Given the description of an element on the screen output the (x, y) to click on. 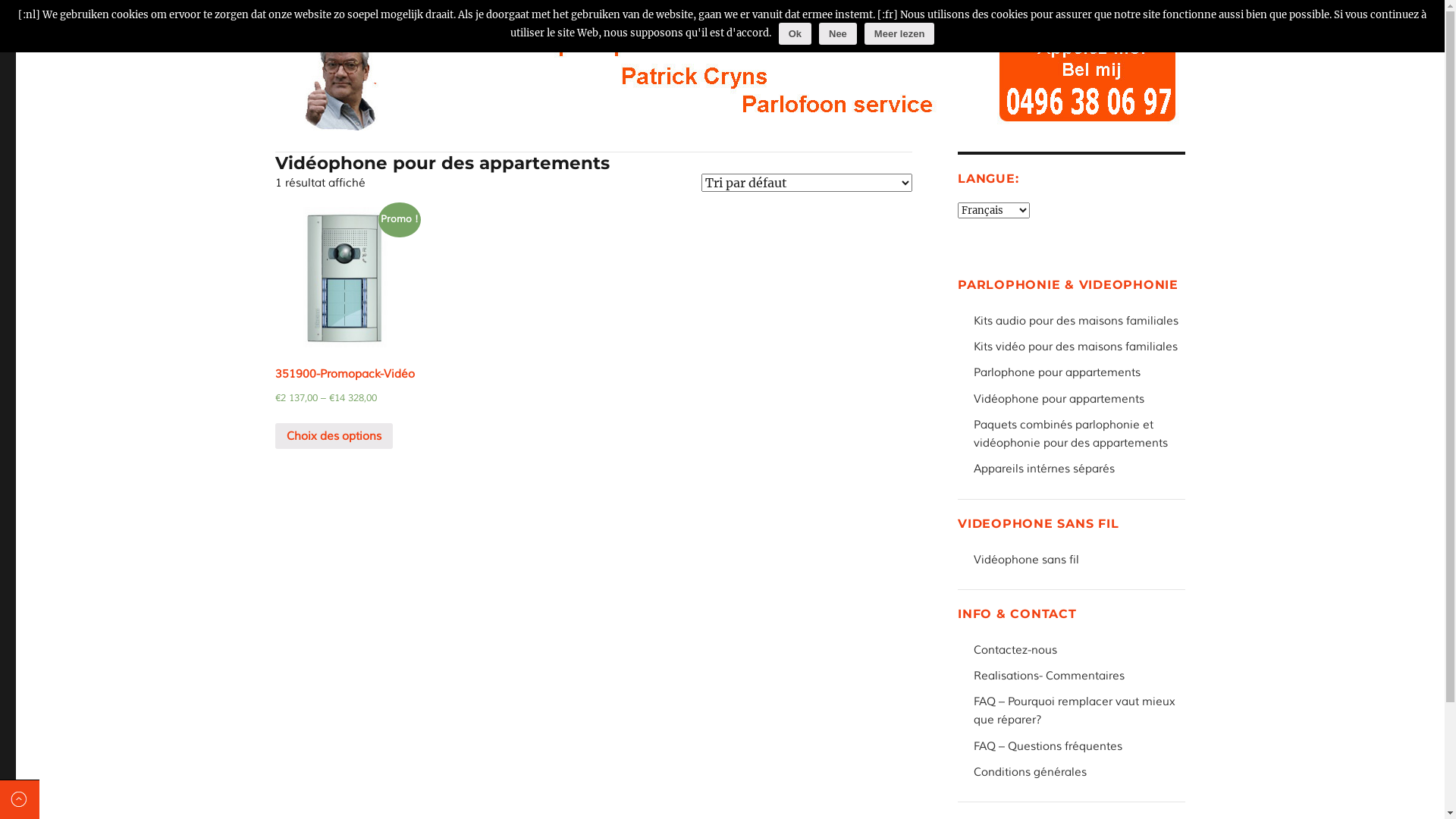
Realisations- Commentaires Element type: text (1077, 676)
Parlophone pour appartements Element type: text (1077, 372)
Choix des options Element type: text (333, 435)
Contactez-nous Element type: text (1077, 650)
Nee Element type: text (837, 33)
Patrick Cryns' service parlophone Element type: text (442, 13)
Ok Element type: text (794, 33)
Kits audio pour des maisons familiales Element type: text (1077, 321)
Meer lezen Element type: text (899, 33)
